Given the description of an element on the screen output the (x, y) to click on. 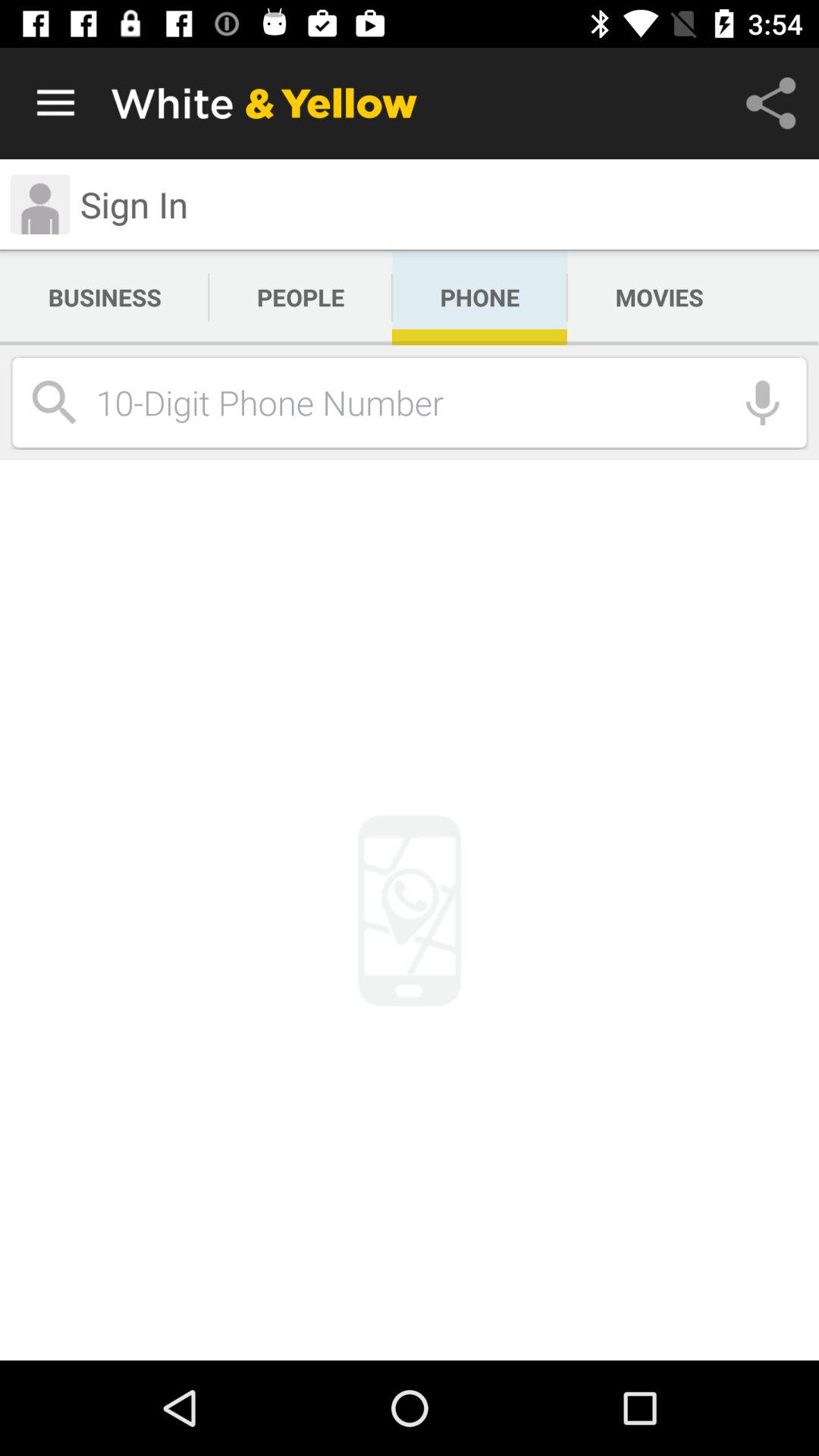
turn off the icon to the left of phone icon (300, 297)
